Given the description of an element on the screen output the (x, y) to click on. 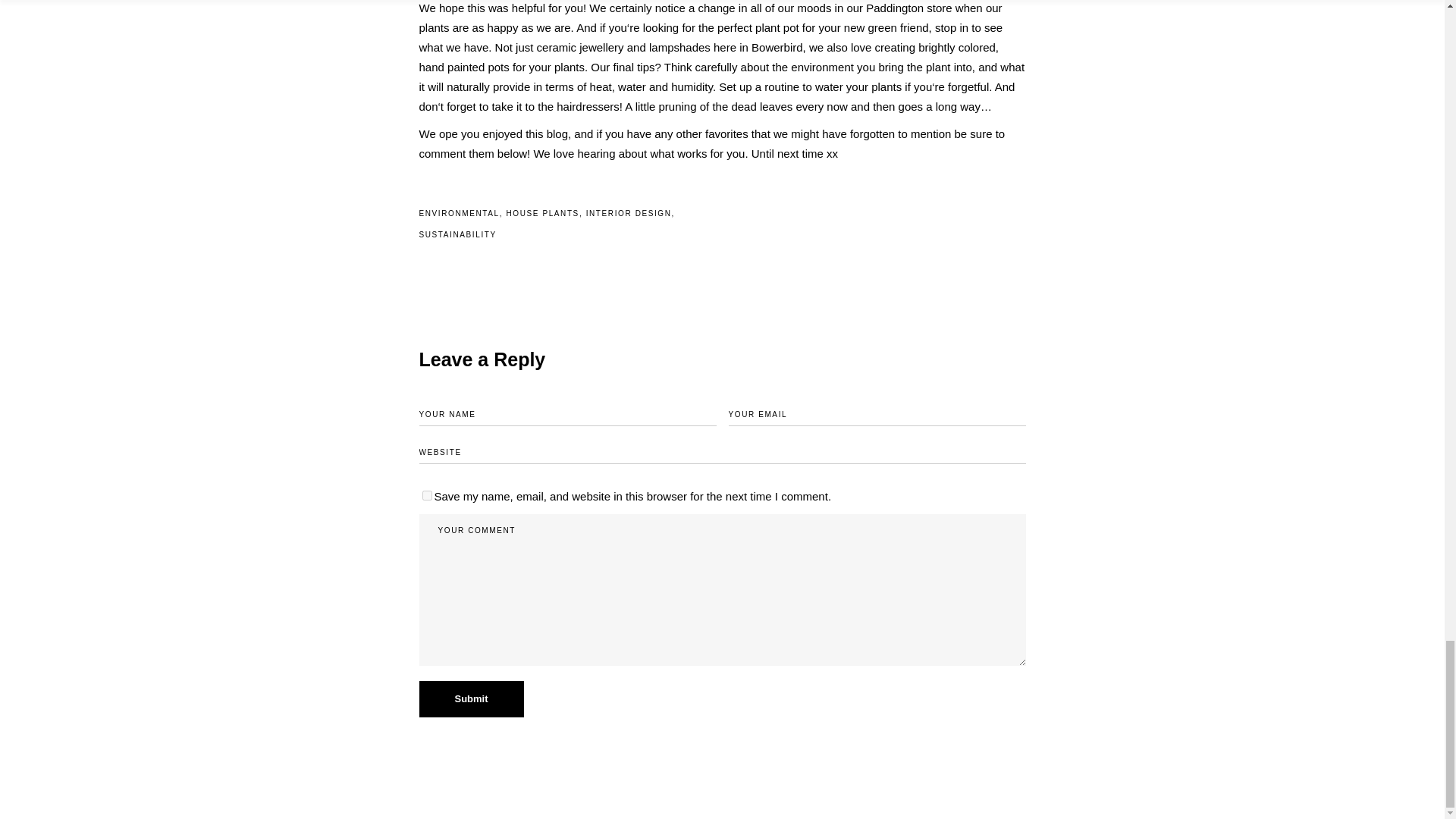
yes (426, 495)
Submit (470, 698)
